Given the description of an element on the screen output the (x, y) to click on. 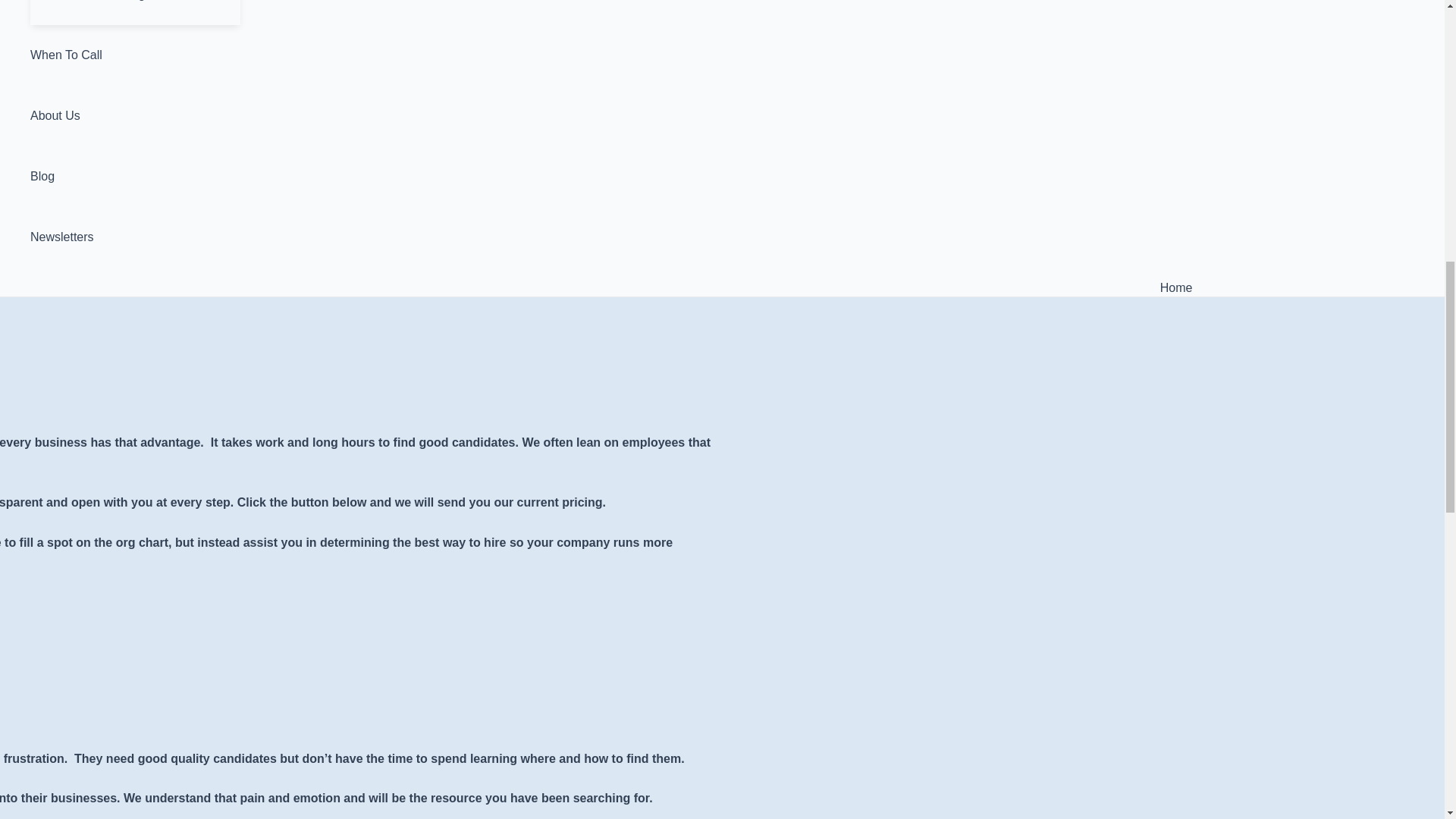
About Us (135, 115)
Blog (135, 176)
Interviewing (150, 12)
When To Call (135, 55)
Newsletters (135, 237)
